Given the description of an element on the screen output the (x, y) to click on. 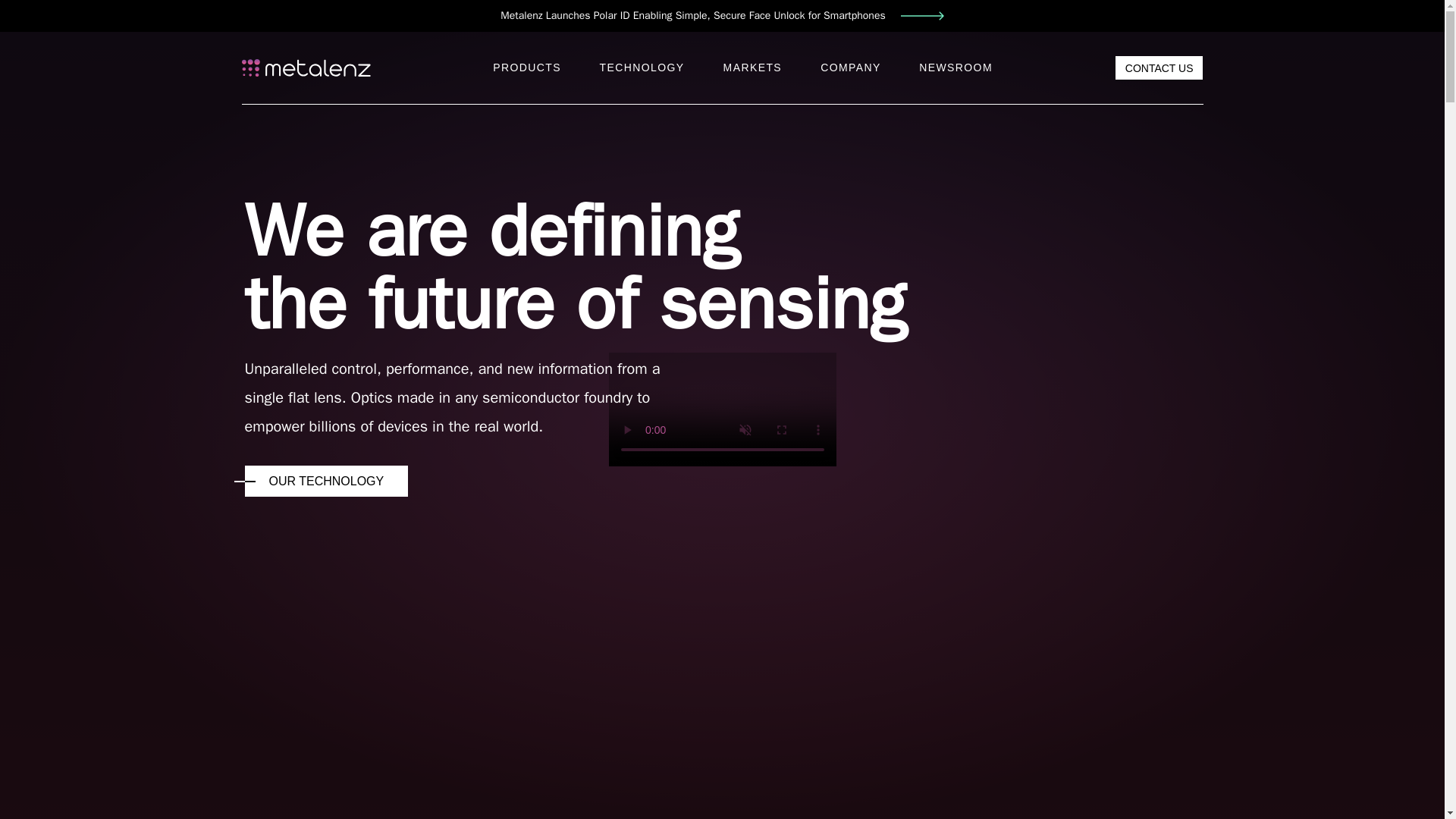
PRODUCTS (526, 67)
NEWSROOM (955, 67)
CONTACT US (1159, 67)
TECHNOLOGY (641, 67)
